Given the description of an element on the screen output the (x, y) to click on. 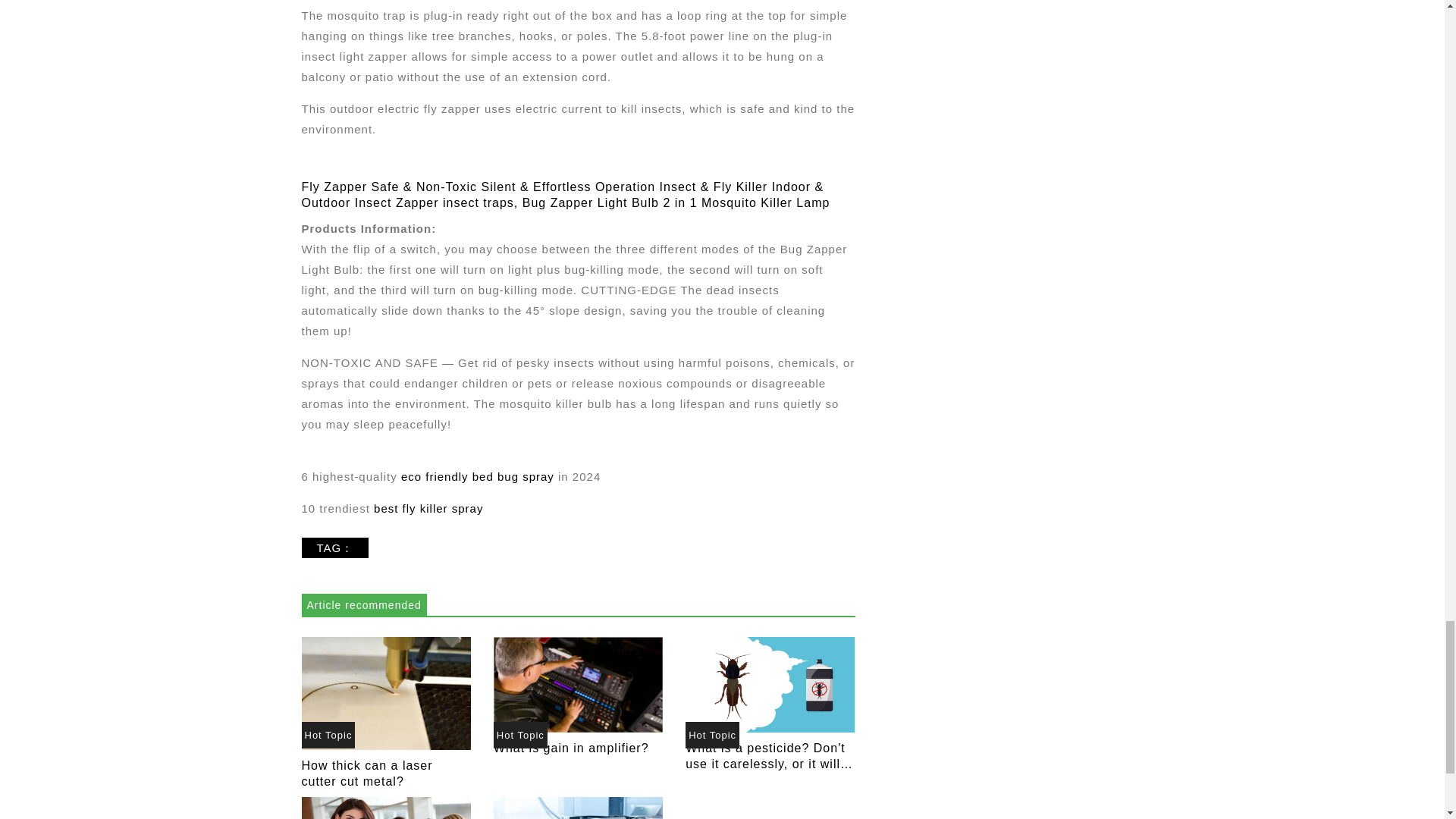
How thick can a laser cutter cut metal? (385, 691)
What is gain in amplifier? (577, 683)
Hot Topic (520, 734)
What is gain in amplifier? (571, 748)
Hot Topic (712, 734)
What is gain in amplifier? (577, 684)
How thick can a laser cutter cut metal? (366, 773)
